Given the description of an element on the screen output the (x, y) to click on. 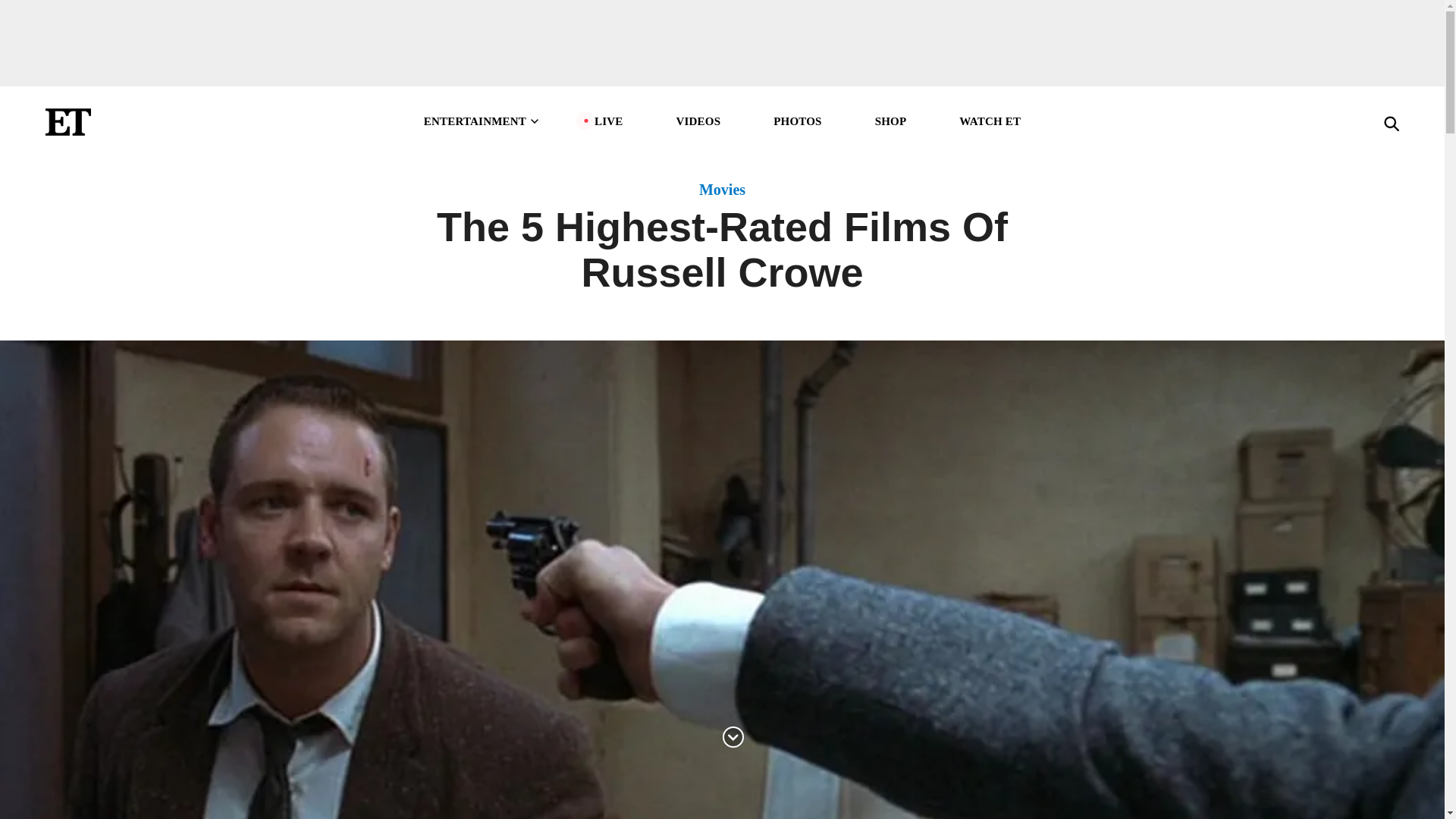
LIVE (608, 120)
VIDEOS (697, 120)
Movies (721, 189)
SHOP (891, 120)
ENTERTAINMENT (482, 120)
WATCH ET (989, 120)
PHOTOS (797, 120)
